Given the description of an element on the screen output the (x, y) to click on. 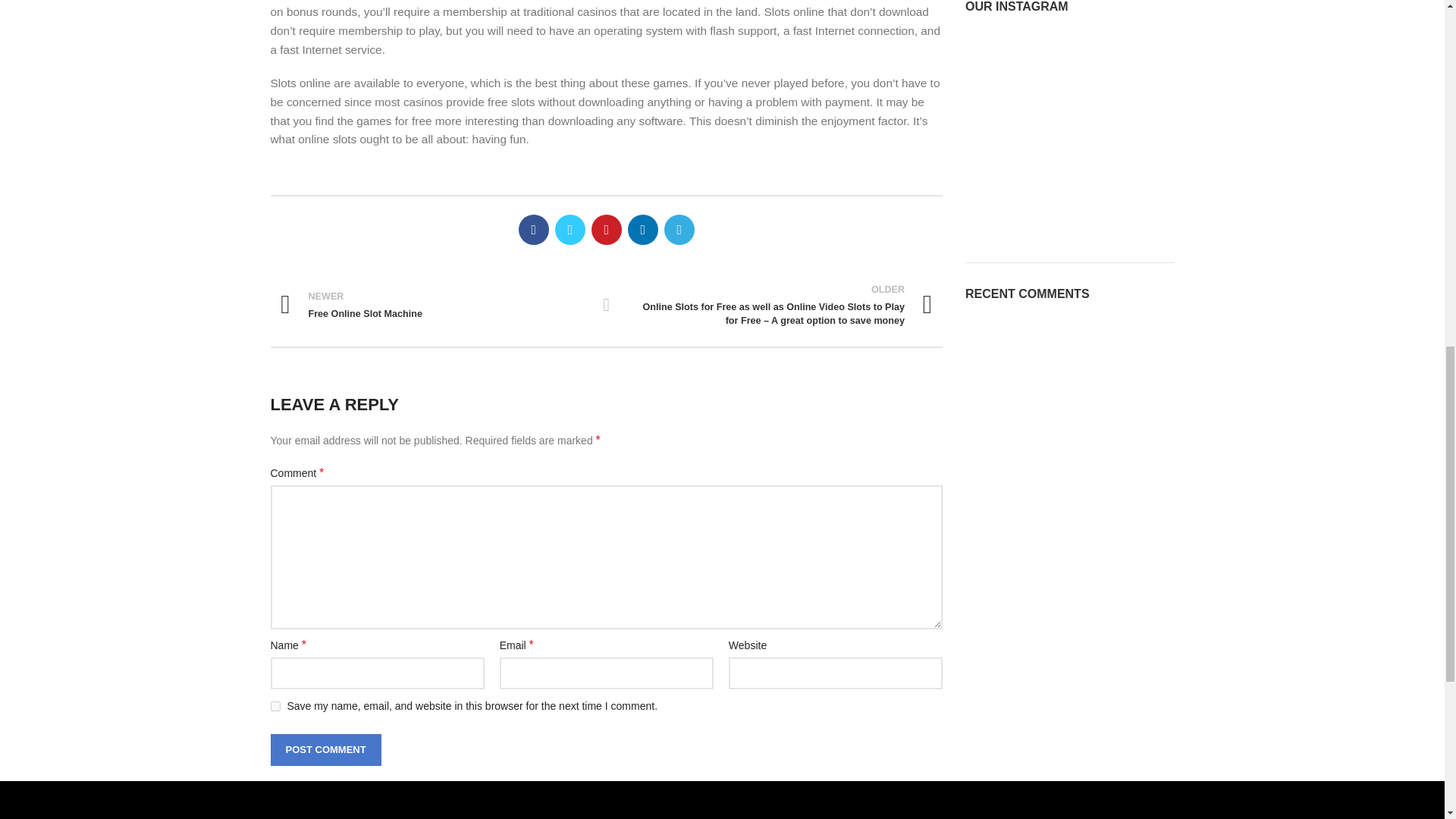
Al-Logo-copy (432, 305)
Post Comment (172, 815)
Back to list (324, 749)
Post Comment (606, 304)
yes (324, 749)
